Given the description of an element on the screen output the (x, y) to click on. 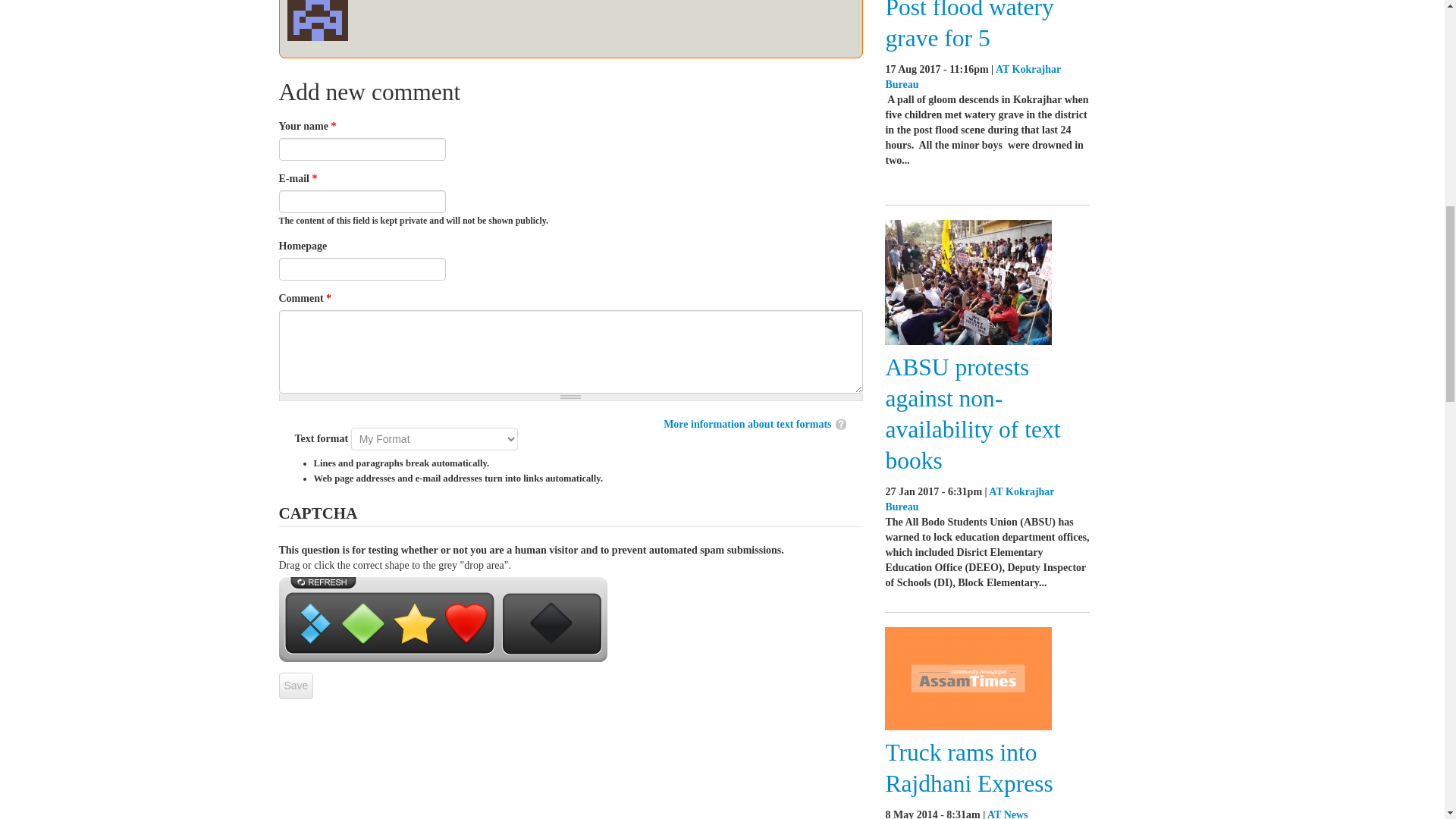
AT Kokrajhar Bureau (972, 76)
View user profile. (969, 499)
Post flood watery grave for 5 (968, 25)
Dr M Firoz Ahmed's picture (316, 20)
ABSU protests against non-availability of text books (972, 413)
More information about text formats (746, 423)
Save (296, 685)
Truck rams into Rajdhani Express (968, 767)
Save (296, 685)
AT Kokrajhar Bureau (969, 499)
View user profile. (972, 76)
AT News (1007, 814)
View user profile. (1007, 814)
View user profile. (316, 9)
